Given the description of an element on the screen output the (x, y) to click on. 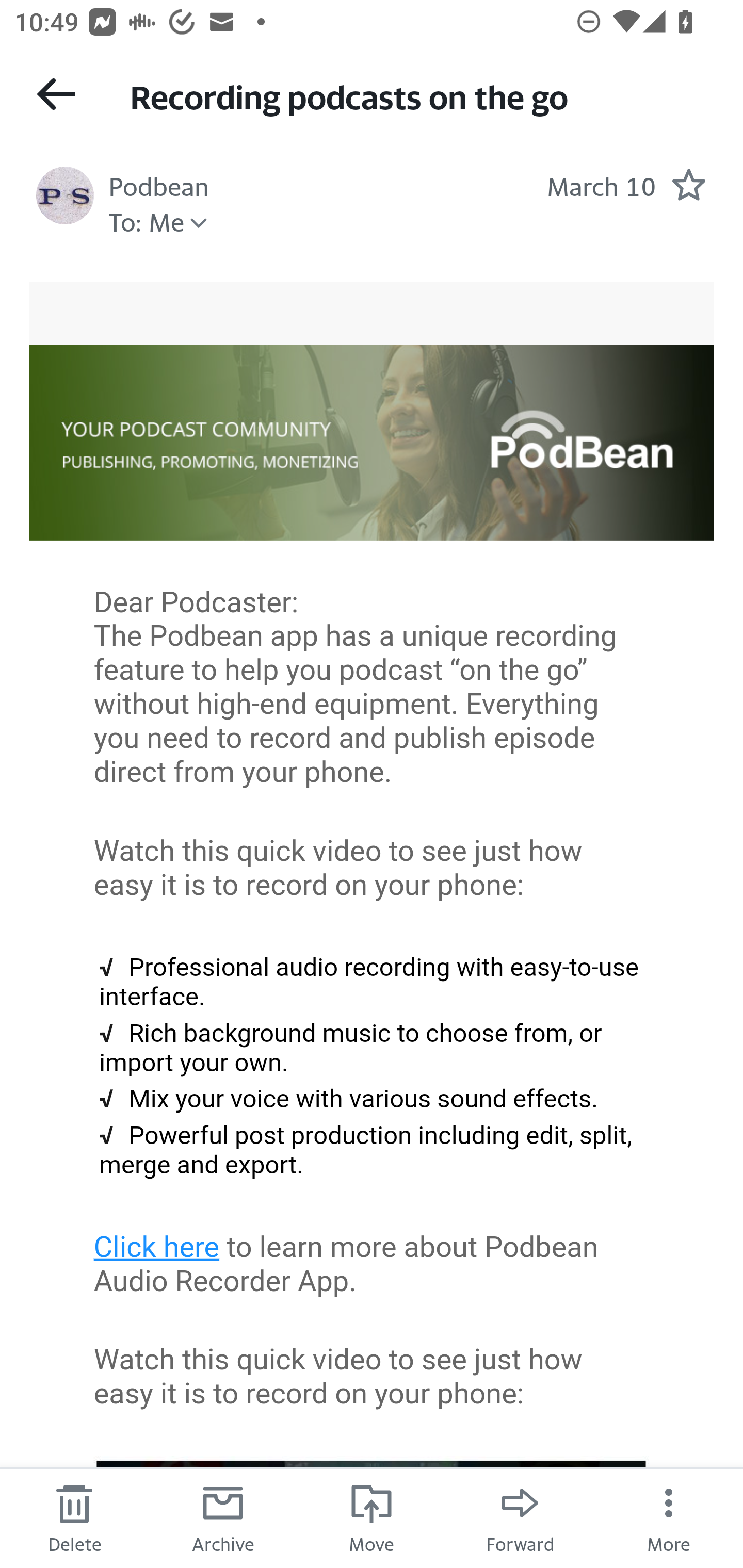
Back (55, 93)
Recording podcasts on the go (418, 94)
Profile (64, 195)
Podbean Sender Podbean (158, 184)
Mark as starred. (688, 184)
Click here (156, 1247)
Delete (74, 1517)
Archive (222, 1517)
Move (371, 1517)
Forward (519, 1517)
More (668, 1517)
